Given the description of an element on the screen output the (x, y) to click on. 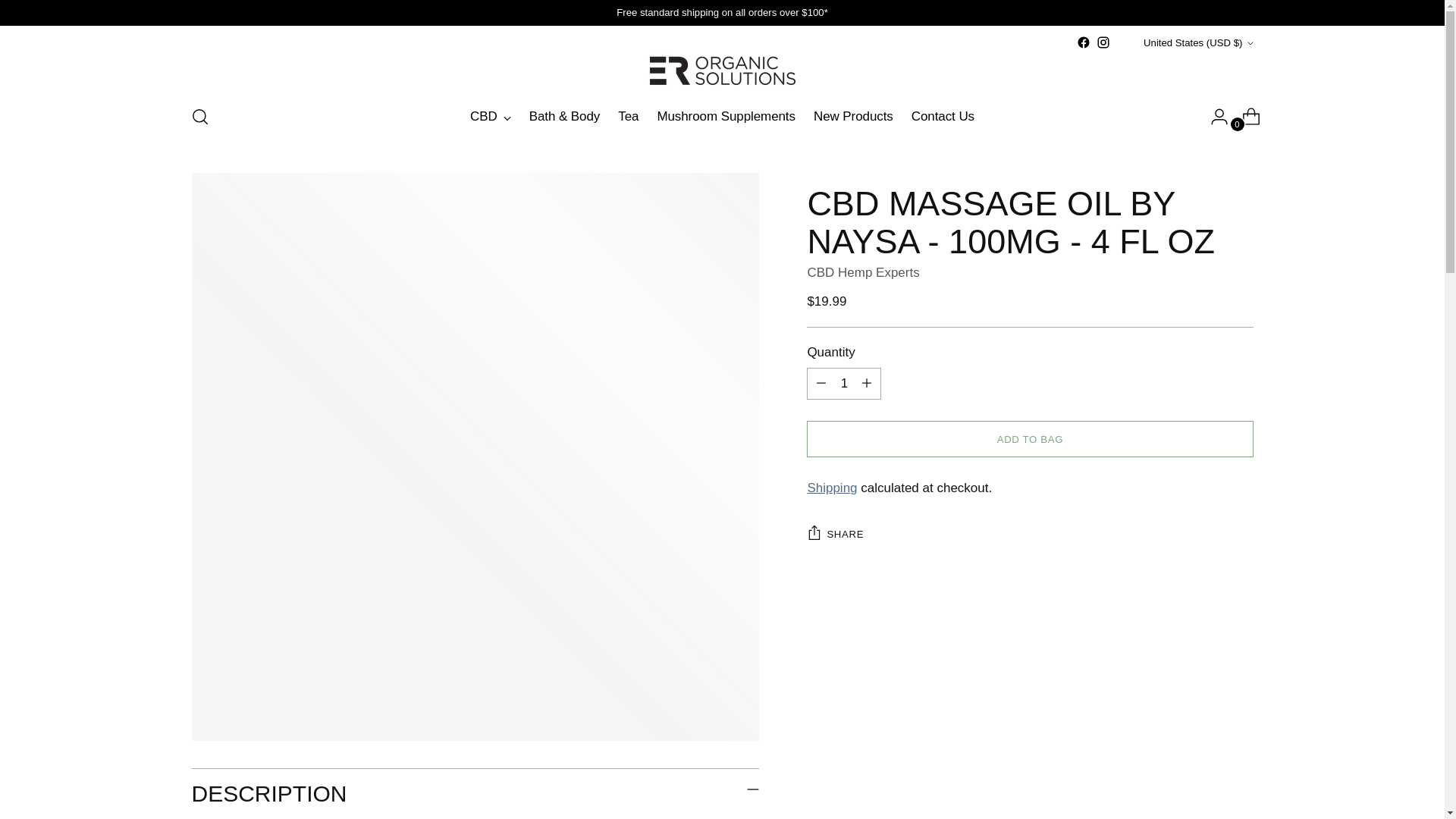
0 (1245, 116)
New Products (853, 116)
erorganicsolutions on Facebook (1083, 42)
Mushroom Supplements (725, 116)
Contact Us (942, 116)
1 (843, 383)
CBD Hemp Experts (862, 272)
erorganicsolutions on Instagram (1102, 42)
CBD (490, 116)
